Given the description of an element on the screen output the (x, y) to click on. 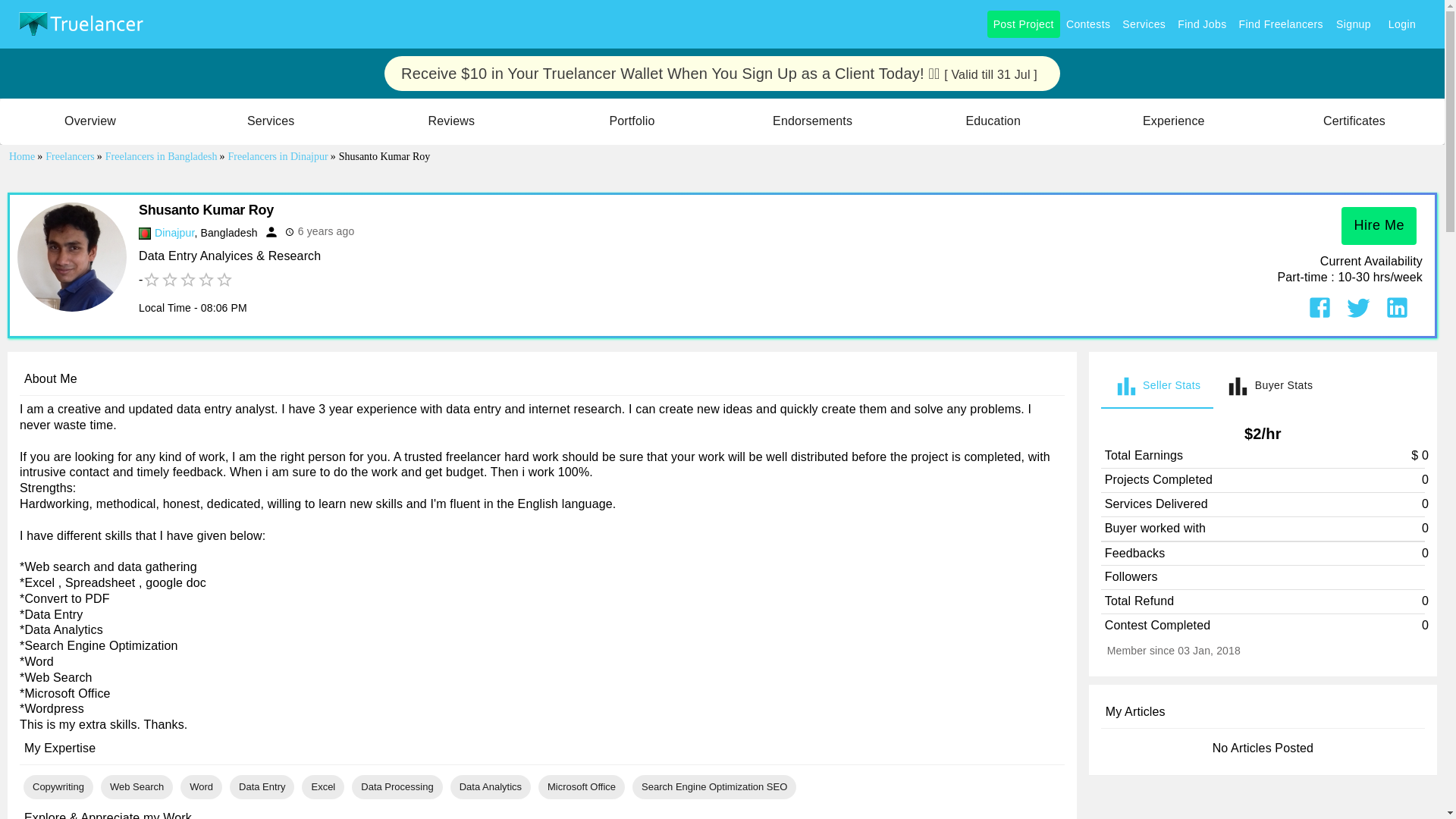
Excel (322, 787)
Search Engine Optimization SEO (713, 787)
Data Analytics (490, 787)
Copywriting (58, 787)
Data Processing (396, 787)
Services (1144, 24)
Data Entry (261, 787)
Word (200, 787)
Microsoft Office (581, 787)
Freelancers in Dinajpur (278, 156)
Home (22, 156)
Freelancers in Dinajpur (173, 232)
Dinajpur (1262, 385)
Contests (173, 232)
